Given the description of an element on the screen output the (x, y) to click on. 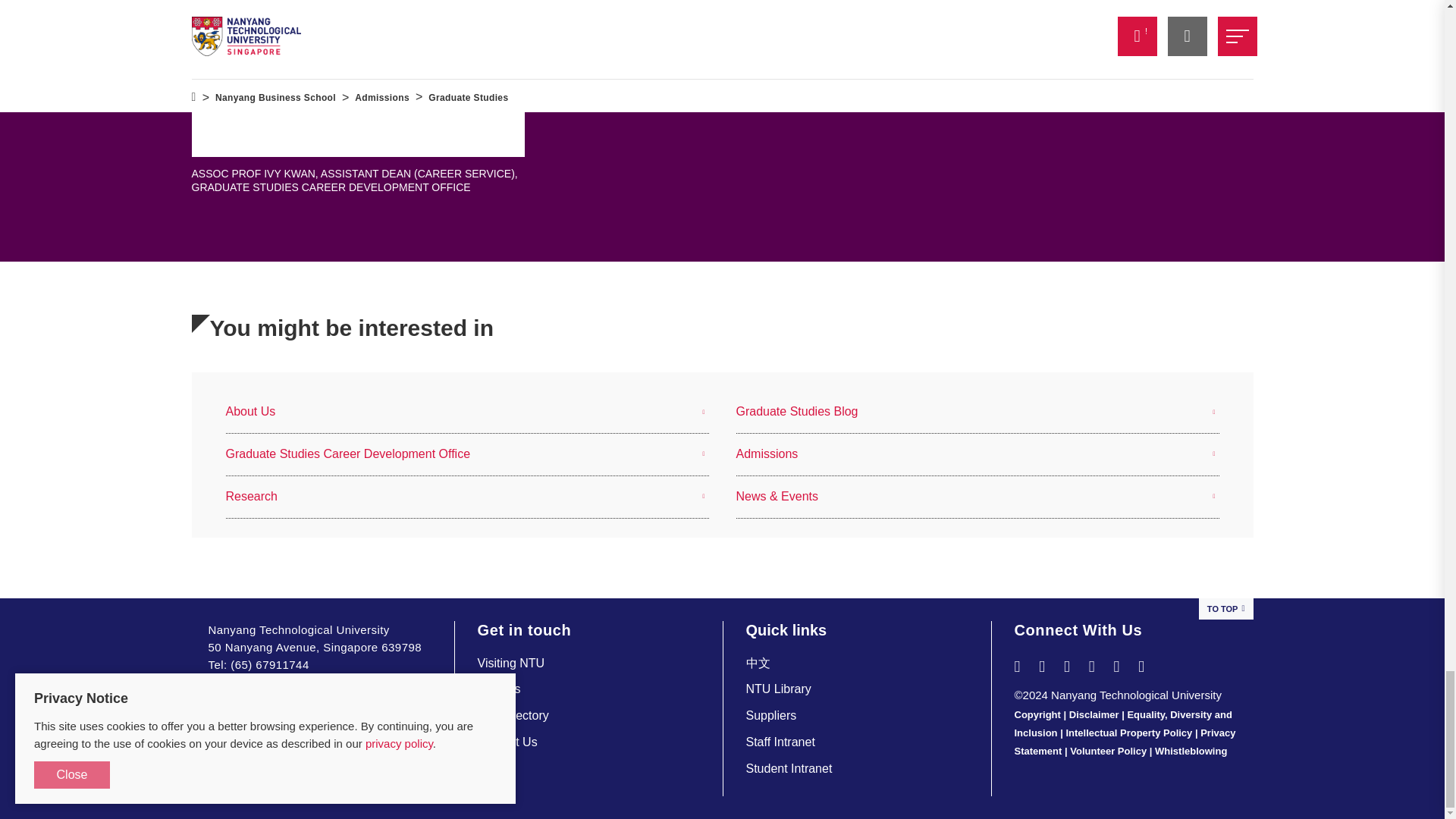
TO TOP (1225, 608)
